Given the description of an element on the screen output the (x, y) to click on. 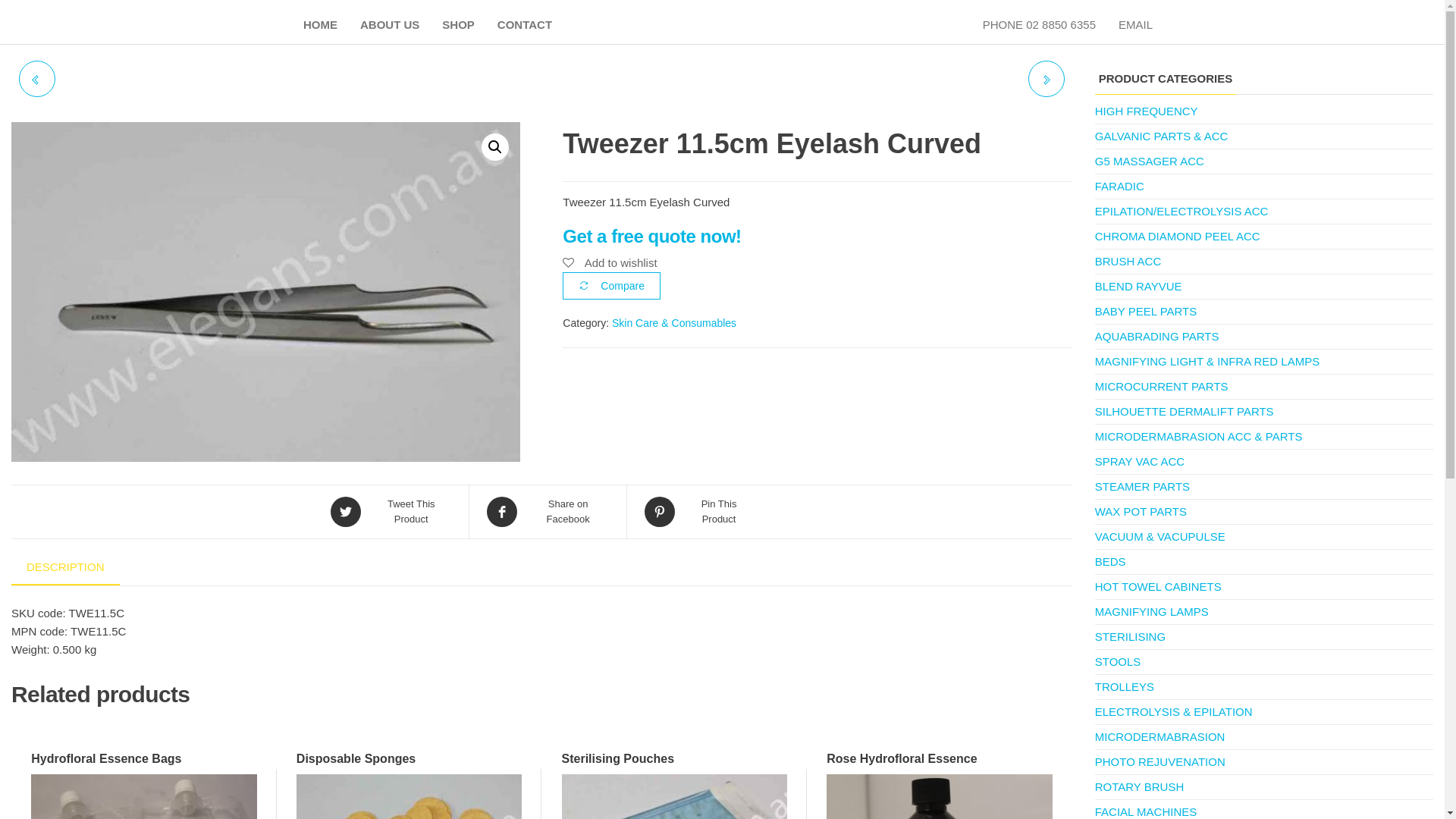
GALVANIC PARTS & ACC Element type: text (1161, 135)
MAGNIFYING LIGHT & INFRA RED LAMPS Element type: text (1207, 360)
WAX POT PARTS Element type: text (1140, 511)
SILHOUETTE DERMALIFT PARTS Element type: text (1184, 410)
Compare Element type: text (611, 285)
EPILATION/ELECTROLYSIS ACC Element type: text (1181, 210)
PHOTO REJUVENATION Element type: text (1160, 761)
twe11.5c_2_ Element type: hover (265, 291)
ROTARY BRUSH Element type: text (1139, 786)
Pin This Product Element type: text (698, 511)
SPRAY VAC ACC Element type: text (1139, 461)
ELECTROLYSIS & EPILATION Element type: text (1173, 711)
STERILISING Element type: text (1130, 636)
BEDS Element type: text (1110, 561)
CHROMA DIAMOND PEEL ACC Element type: text (1177, 235)
MICRODERMABRASION Element type: text (1160, 736)
HOME Element type: text (319, 24)
BRUSH ACC Element type: text (1128, 260)
G5 MASSAGER ACC Element type: text (1149, 160)
VACUUM & VACUPULSE Element type: text (1160, 536)
DESCRIPTION Element type: text (65, 567)
EMAIL Element type: text (1135, 24)
BABY PEEL PARTS Element type: text (1146, 310)
TROLLEYS Element type: text (1124, 686)
Share on Facebook Element type: text (547, 511)
HIGH FREQUENCY Element type: text (1146, 110)
MAGNIFYING LAMPS Element type: text (1151, 611)
Tweet This Product Element type: text (390, 511)
Skin Care & Consumables Element type: text (673, 322)
HOT TOWEL CABINETS Element type: text (1158, 586)
AQUABRADING PARTS Element type: text (1157, 335)
Get a free quote now! Element type: text (651, 235)
MICRODERMABRASION ACC & PARTS Element type: text (1198, 435)
FACIAL MACHINES Element type: text (1145, 811)
BLEND RAYVUE Element type: text (1138, 285)
SHOP Element type: text (458, 24)
STEAMER PARTS Element type: text (1142, 486)
FARADIC Element type: text (1119, 185)
CONTACT Element type: text (524, 24)
PHONE 02 8850 6355 Element type: text (1039, 24)
STOOLS Element type: text (1118, 661)
Add to wishlist Element type: text (609, 262)
ABOUT US Element type: text (389, 24)
MICROCURRENT PARTS Element type: text (1161, 385)
TWEEZER 11.5CM EYELASH STRAIGHT Element type: text (1046, 78)
TWEEZER SPLINTER FINE 12CM Element type: text (36, 78)
